Given the description of an element on the screen output the (x, y) to click on. 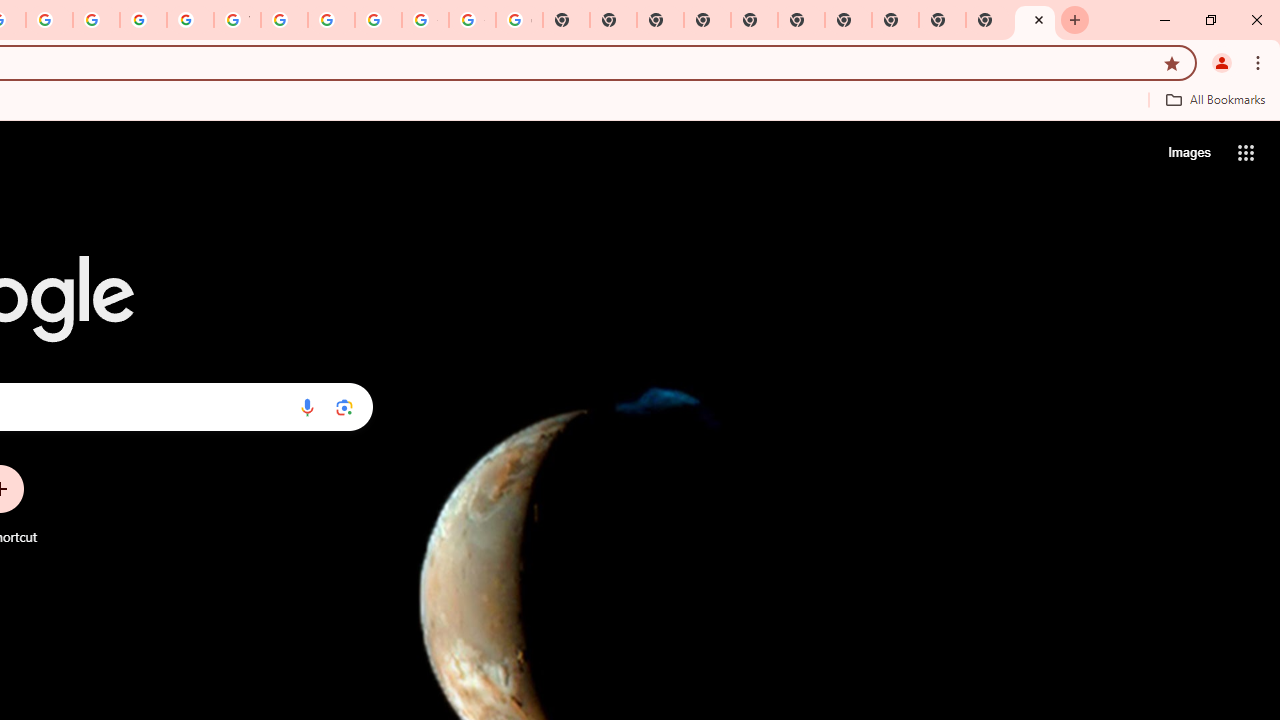
Search for Images  (1188, 152)
Search by image (344, 407)
Privacy Help Center - Policies Help (48, 20)
Google Images (518, 20)
